Given the description of an element on the screen output the (x, y) to click on. 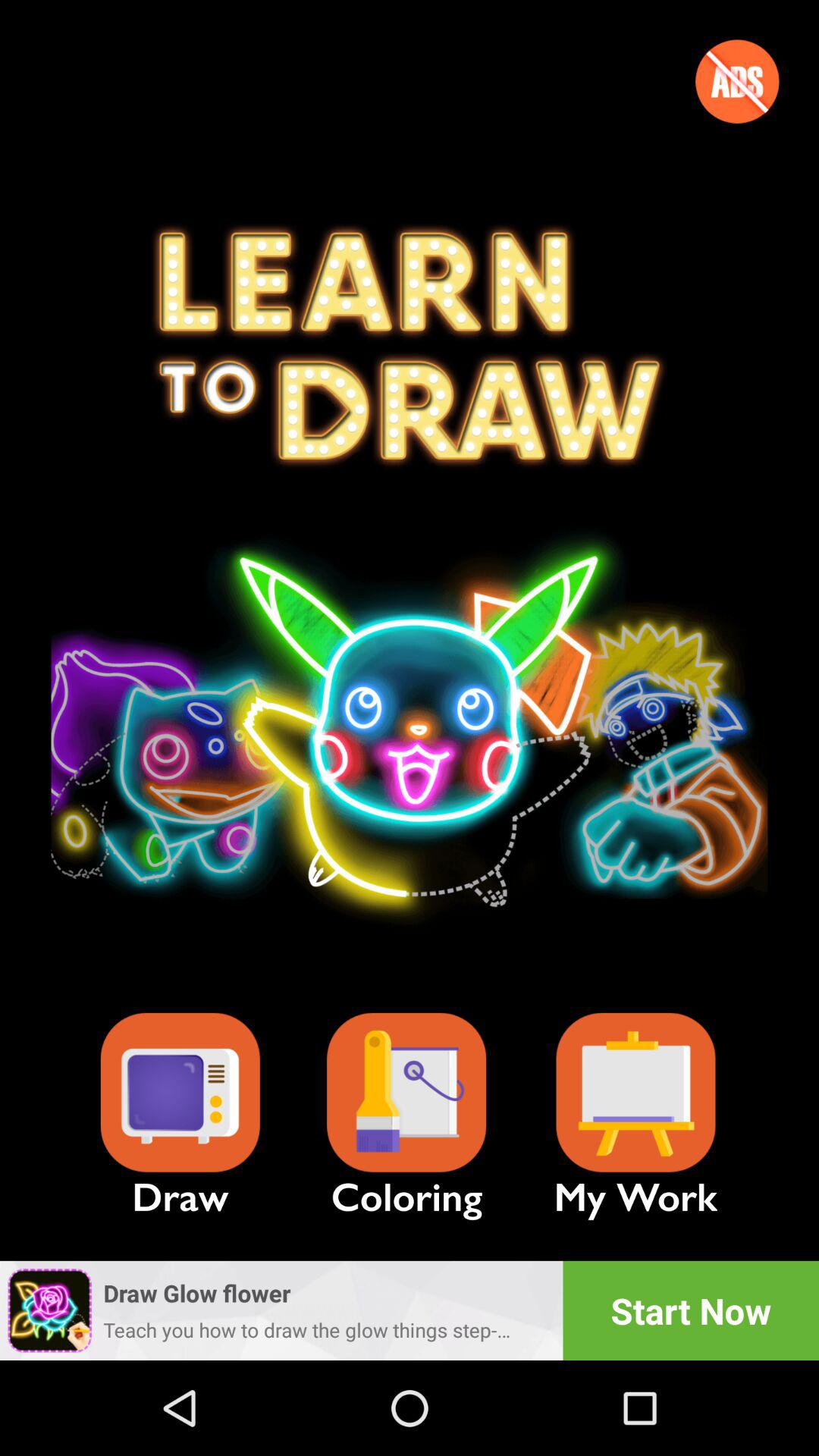
select the app next to the draw glow flower (691, 1310)
